Given the description of an element on the screen output the (x, y) to click on. 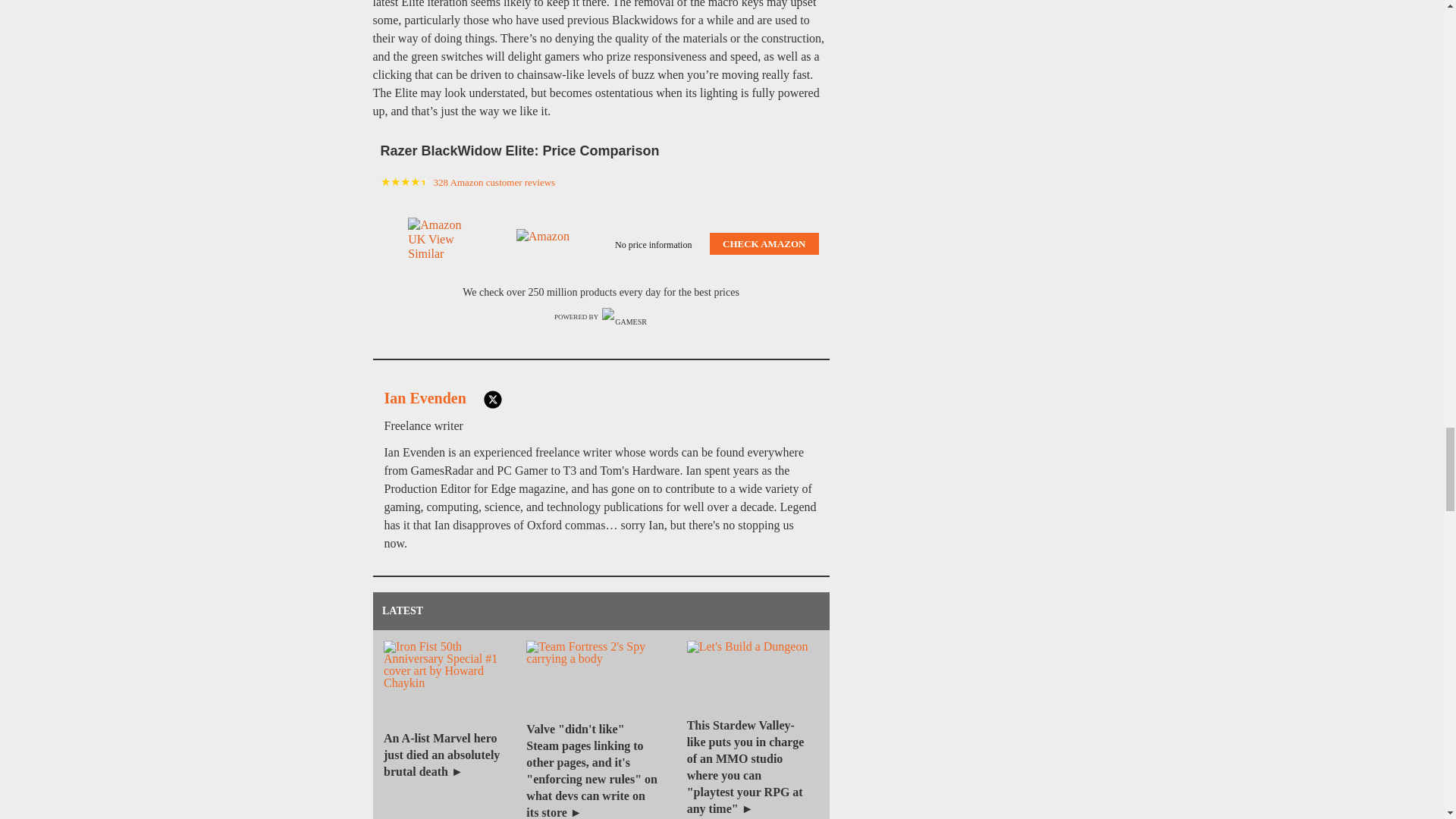
Amazon (546, 244)
Gamesradar (624, 316)
Amazon UK View Similar (437, 244)
